Given the description of an element on the screen output the (x, y) to click on. 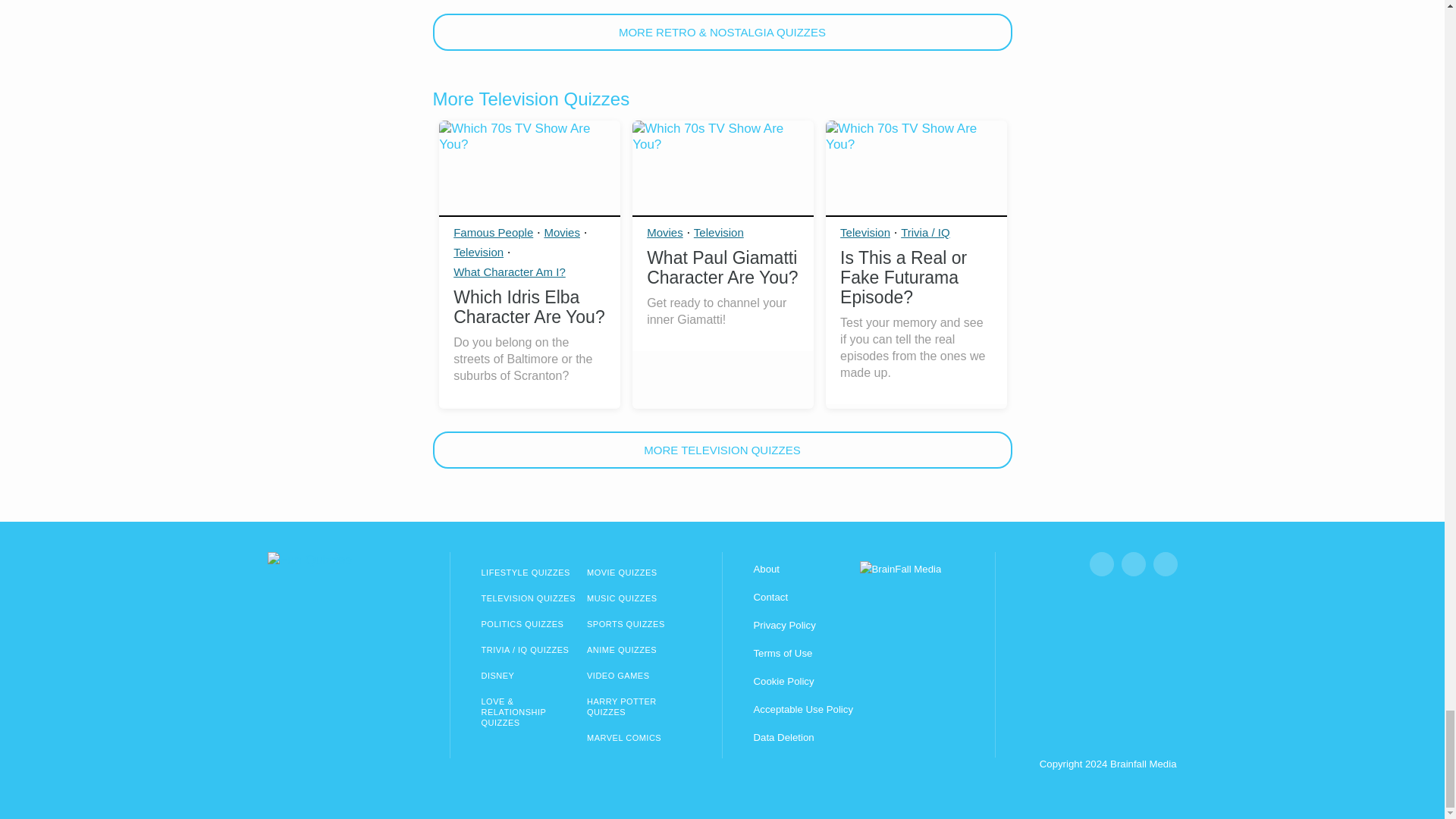
Like us on Facebook! (1101, 564)
Follow us on Instagram! (1132, 564)
Follow us on Twitter! (1164, 564)
